Given the description of an element on the screen output the (x, y) to click on. 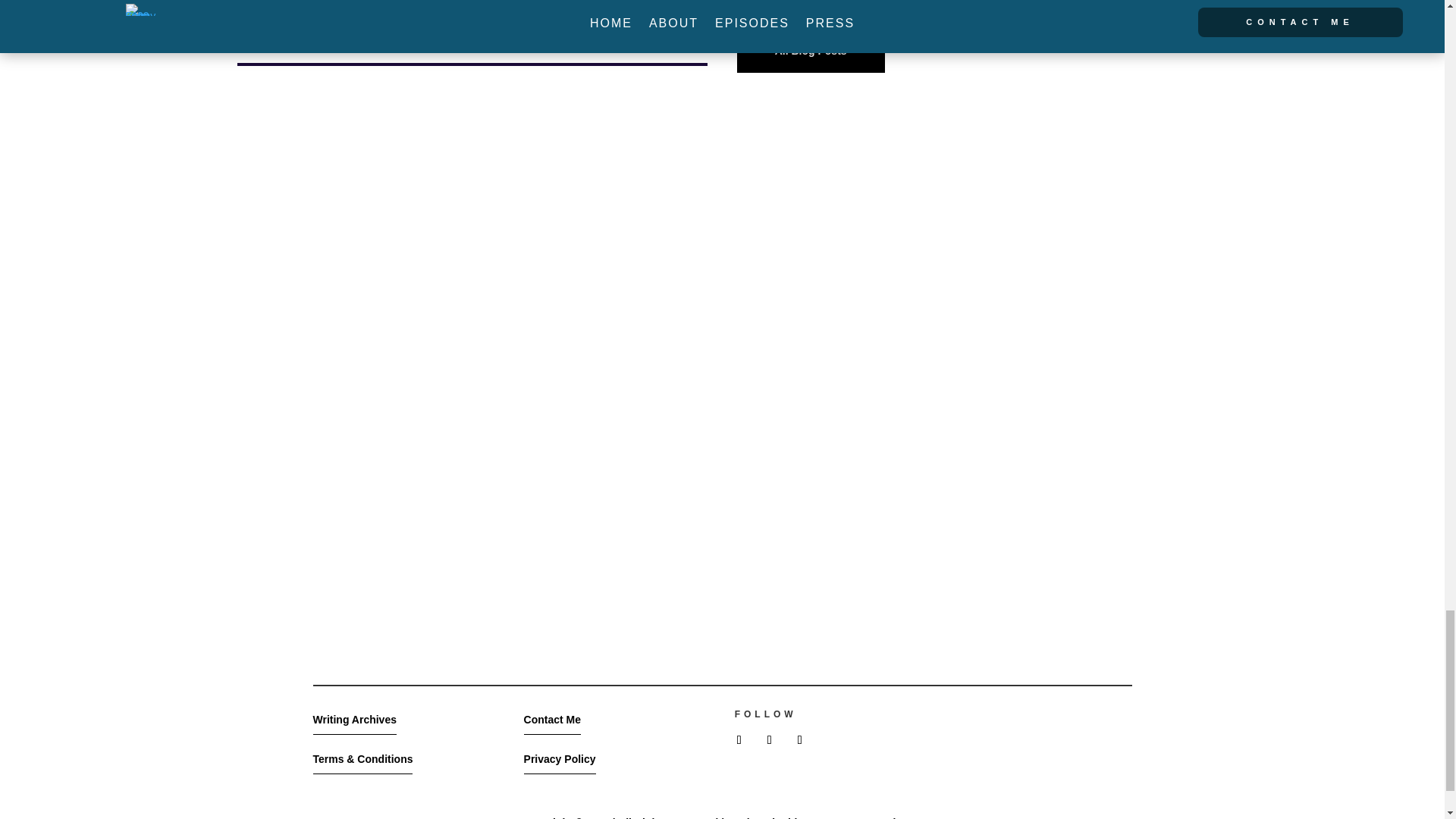
Privacy Policy (559, 759)
Contact Me (552, 719)
Follow on LinkedIn (769, 740)
Follow on X (738, 740)
All Blog Posts (810, 51)
Follow on Instagram (799, 740)
Writing Archives (354, 719)
